Given the description of an element on the screen output the (x, y) to click on. 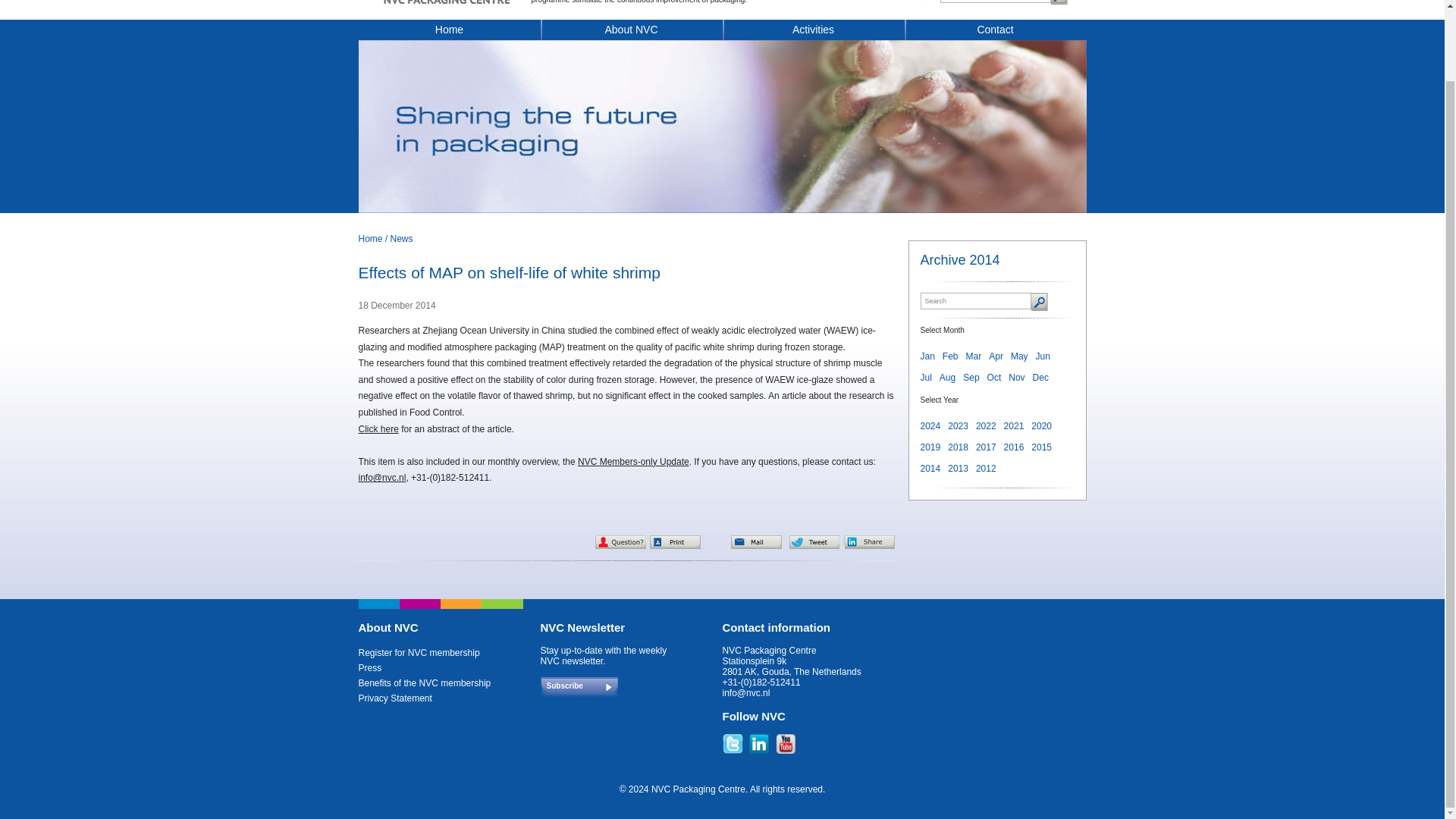
Jan (927, 356)
Sep (970, 377)
Contact (995, 31)
Feb (950, 356)
About NVC (631, 31)
Oct (994, 377)
Mar (973, 356)
NVC Members-only Update (633, 461)
Search (995, 1)
Jun (1042, 356)
